Given the description of an element on the screen output the (x, y) to click on. 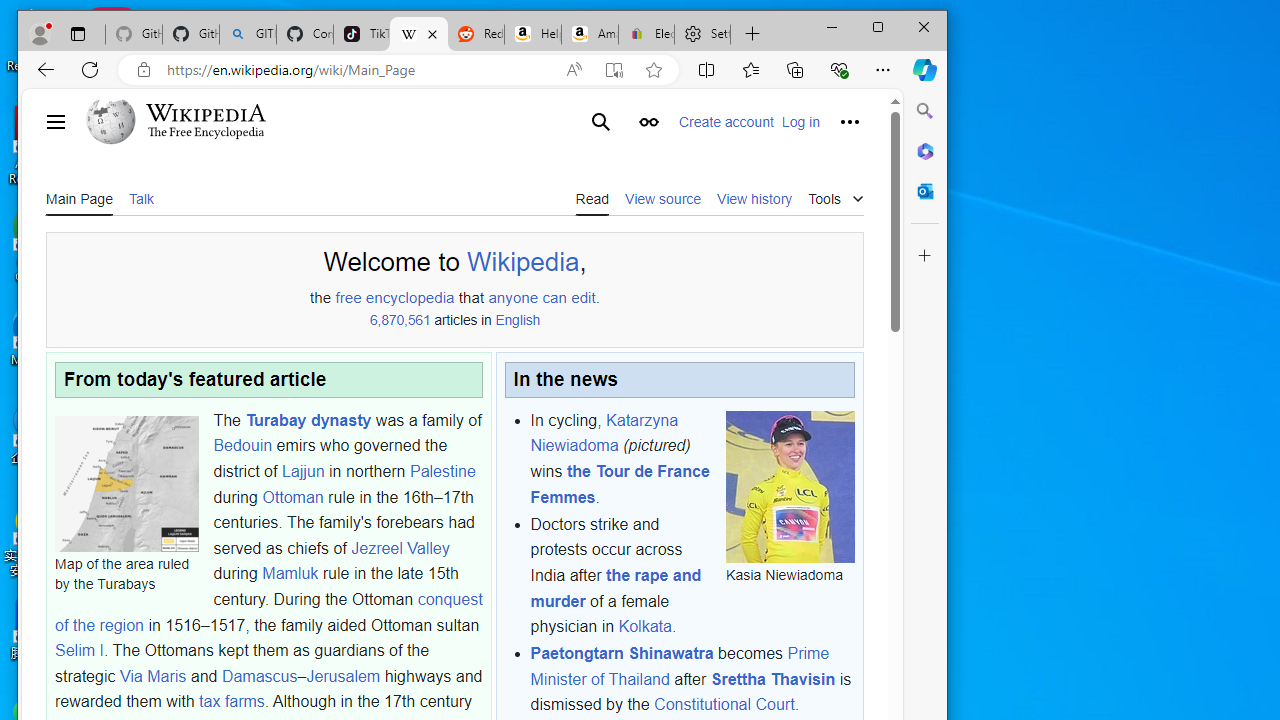
Constitutional Court (724, 705)
Create account (726, 121)
